Given the description of an element on the screen output the (x, y) to click on. 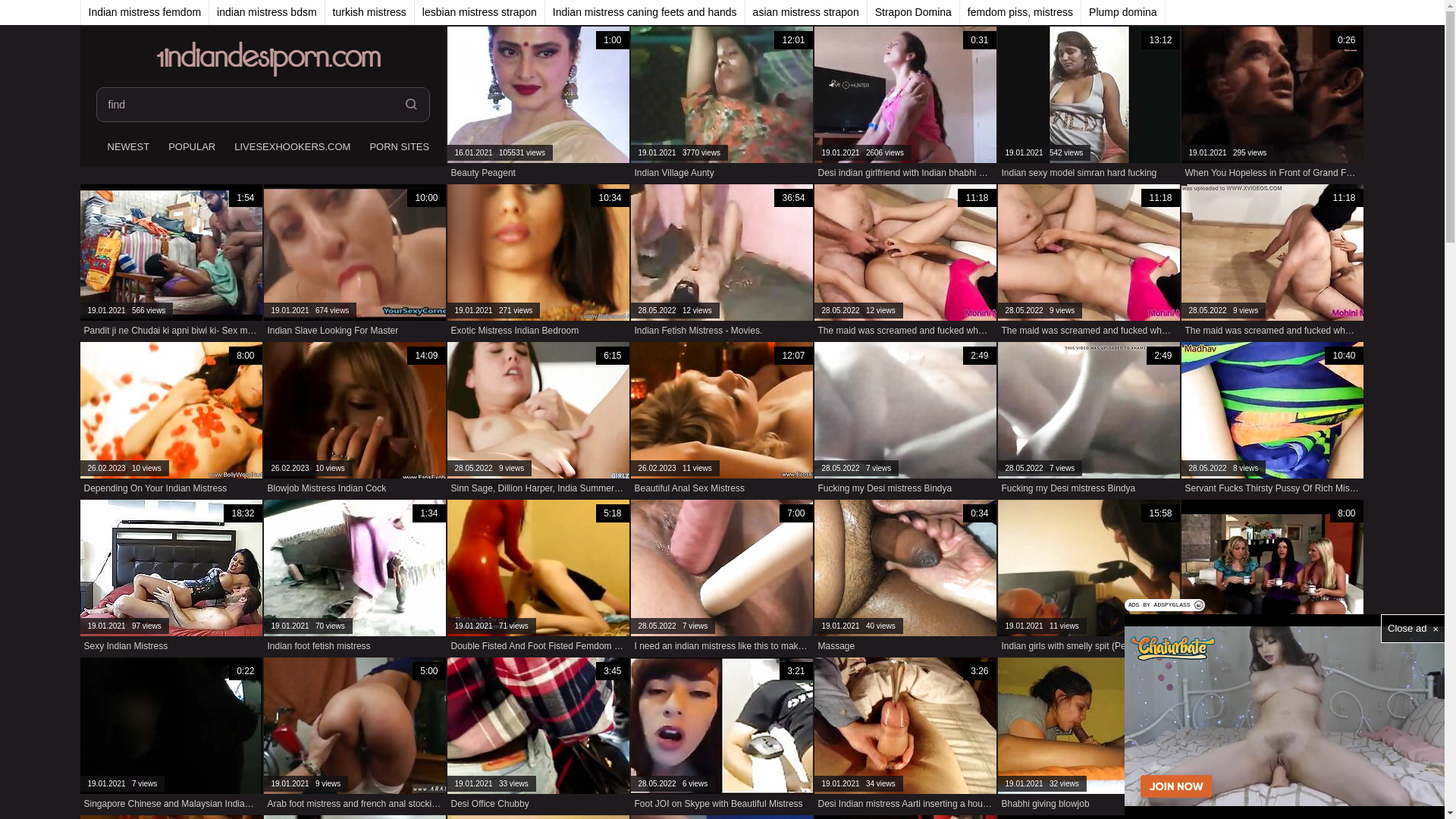
POPULAR Element type: text (189, 147)
2:49
28.05.2022   7 views
Fucking my Desi mistress Bindya Element type: text (905, 420)
Plump domina Element type: text (1123, 12)
18:32
19.01.2021   97 views
Sexy Indian Mistress Element type: text (171, 577)
Strapon Domina Element type: text (913, 12)
0:34
19.01.2021   40 views
Massage Element type: text (905, 577)
PORN SITES Element type: text (396, 147)
NEWEST Element type: text (125, 147)
14:09
26.02.2023   10 views
Blowjob Mistress Indian Cock Element type: text (354, 420)
lesbian mistress strapon Element type: text (479, 12)
1:34
19.01.2021   70 views
Indian foot fetish mistress Element type: text (354, 577)
36:54
28.05.2022   12 views
Indian Fetish Mistress - Movies. Element type: text (721, 262)
INDIANTUBE Element type: text (475, 147)
1:00
16.01.2021   105531 views
Beauty Peagent Element type: text (538, 104)
LIVESEXHOOKERS.COM Element type: text (289, 147)
10:34
19.01.2021   271 views
Exotic Mistress Indian Bedroom Element type: text (538, 262)
3:45
19.01.2021   33 views
Desi Office Chubby Element type: text (538, 735)
12:01
19.01.2021   3770 views
Indian Village Aunty Element type: text (721, 104)
2:49
28.05.2022   7 views
Fucking my Desi mistress Bindya Element type: text (1088, 420)
Indian mistress femdom Element type: text (144, 12)
8:00
26.02.2023   10 views
Depending On Your Indian Mistress Element type: text (171, 420)
10:00
19.01.2021   674 views
Indian Slave Looking For Master Element type: text (354, 262)
asian mistress strapon Element type: text (806, 12)
1:25
19.01.2021   32 views
Bhabhi giving blowjob Element type: text (1088, 735)
turkish mistress Element type: text (369, 12)
1:00
19.01.2021   32 views
Orgasm Session 2 Element type: text (1272, 735)
12:07
26.02.2023   11 views
Beautiful Anal Sex Mistress Element type: text (721, 420)
Indian mistress caning feets and hands Element type: text (645, 12)
ADS BY ADSPYGLASS Element type: text (1164, 605)
femdom piss, mistress Element type: text (1020, 12)
indian mistress bdsm Element type: text (267, 12)
